Given the description of an element on the screen output the (x, y) to click on. 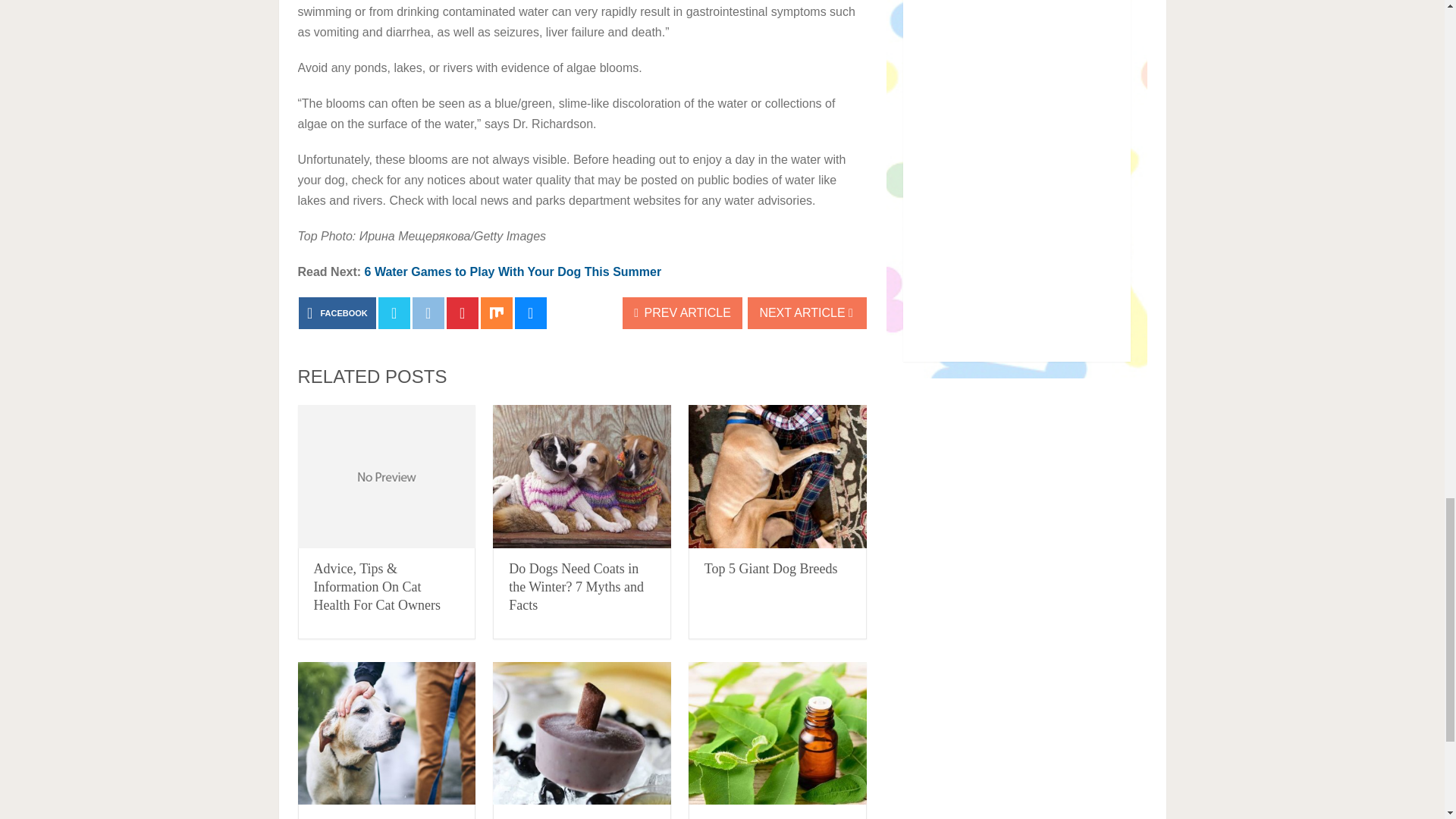
Do Dogs Need Coats in the Winter? 7 Myths and Facts (575, 586)
6 Water Games to Play With Your Dog This Summer (513, 271)
NEXT ARTICLE (807, 313)
PREV ARTICLE (682, 313)
Do Dogs Need Coats in the Winter? 7 Myths and Facts (582, 475)
Do Dogs Need Coats in the Winter? 7 Myths and Facts (575, 586)
Top 5 Giant Dog Breeds (771, 568)
Top 5 Giant Dog Breeds (777, 475)
FACEBOOK (336, 313)
